Given the description of an element on the screen output the (x, y) to click on. 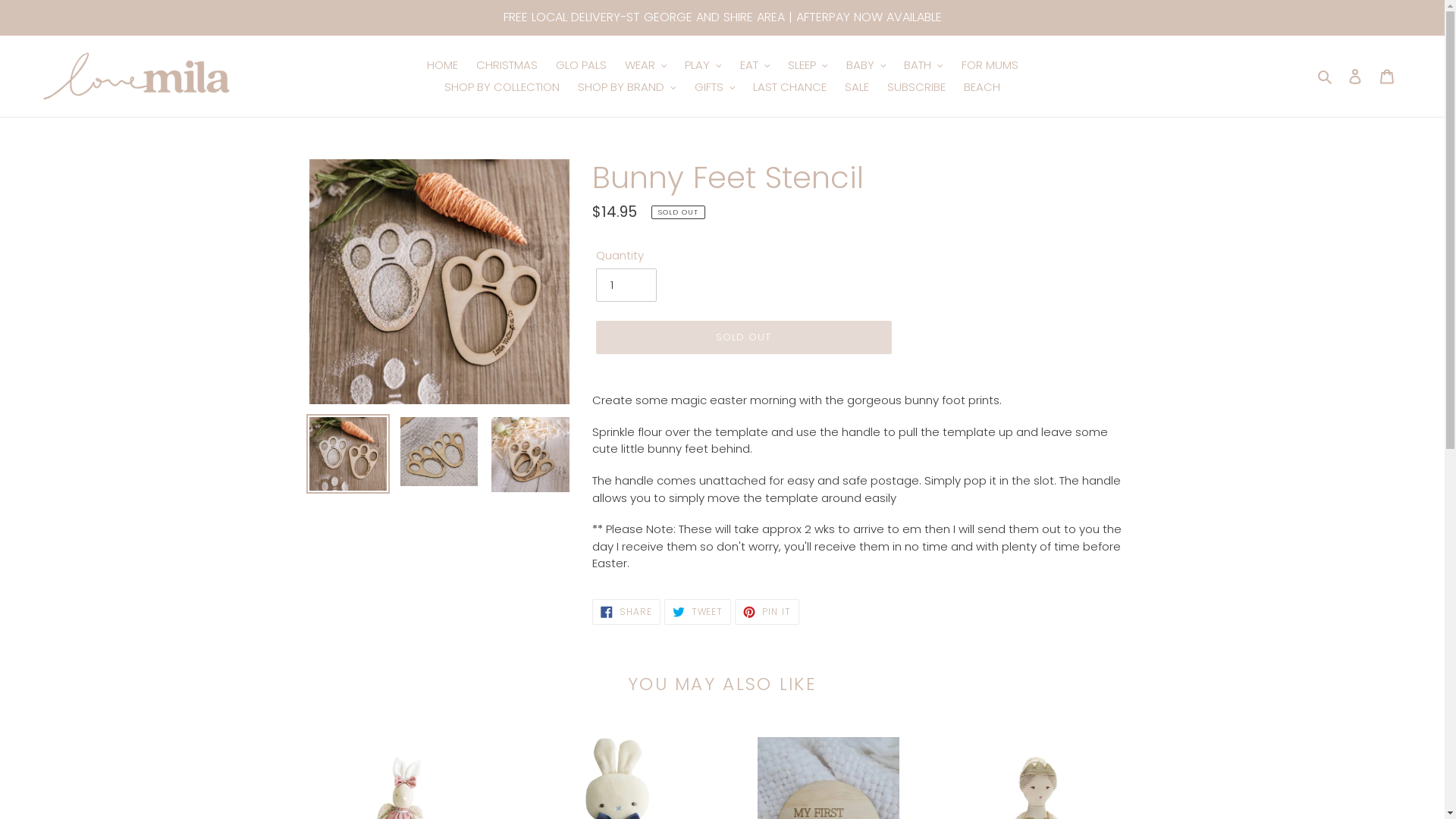
SHOP BY BRAND Element type: text (627, 86)
SUBSCRIBE Element type: text (916, 86)
TWEET
TWEET ON TWITTER Element type: text (697, 611)
HOME Element type: text (441, 65)
Log in Element type: text (1355, 75)
SLEEP Element type: text (807, 65)
PIN IT
PIN ON PINTEREST Element type: text (766, 611)
WEAR Element type: text (645, 65)
BATH Element type: text (923, 65)
SHARE
SHARE ON FACEBOOK Element type: text (626, 611)
SALE Element type: text (856, 86)
SHOP BY COLLECTION Element type: text (501, 86)
EAT Element type: text (755, 65)
GLO PALS Element type: text (580, 65)
BEACH Element type: text (981, 86)
LAST CHANCE Element type: text (789, 86)
SOLD OUT Element type: text (743, 337)
FOR MUMS Element type: text (989, 65)
BABY Element type: text (866, 65)
Search Element type: text (1325, 75)
PLAY Element type: text (703, 65)
CHRISTMAS Element type: text (506, 65)
GIFTS Element type: text (715, 86)
Cart Element type: text (1386, 75)
